Given the description of an element on the screen output the (x, y) to click on. 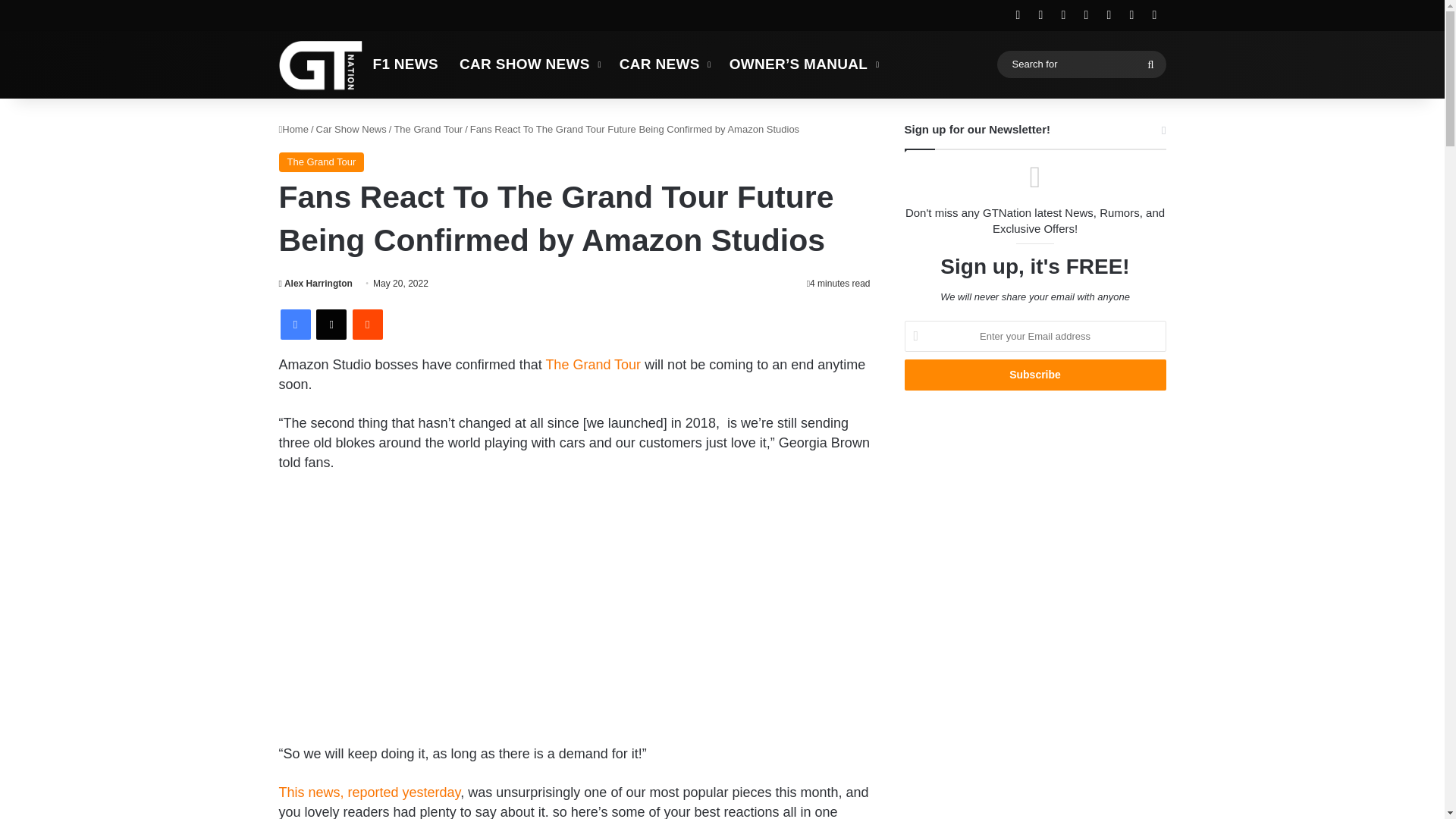
Search for (1150, 63)
Search for (1080, 63)
Facebook (296, 324)
The Grand Tour (592, 364)
Car Show News (351, 129)
Home (293, 129)
Reddit (367, 324)
Alex Harrington (315, 283)
The Grand Tour (322, 161)
X (330, 324)
